Given the description of an element on the screen output the (x, y) to click on. 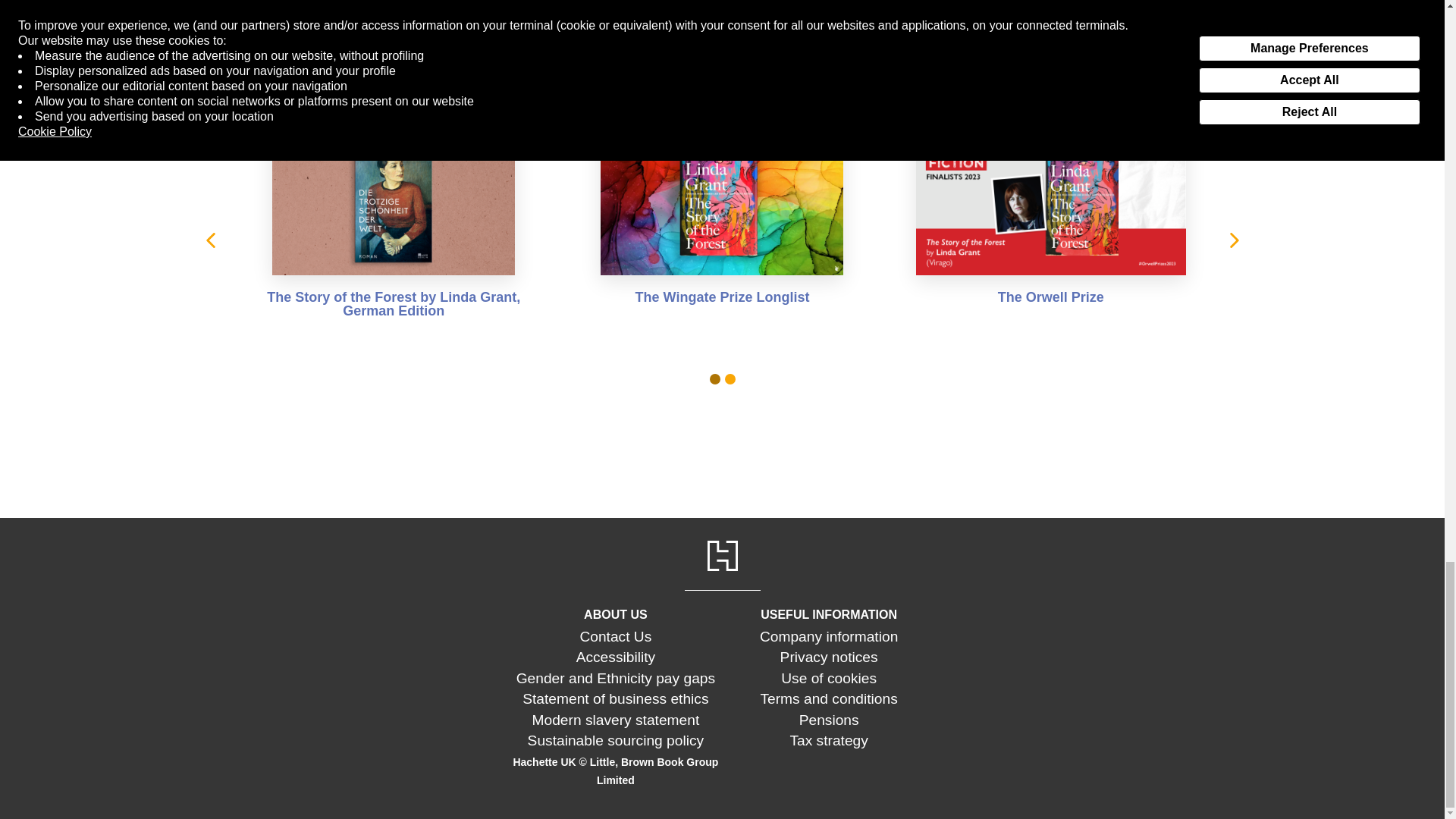
The Story of the Forest by Linda Grant, German Edition (392, 227)
Hachette Logo Large H Initial (721, 555)
The Orwell Prize (1050, 227)
The Wingate Prize Longlist (721, 227)
Right Arrow Right arrow icon (1233, 240)
Left Arrow Left arrow icon (209, 240)
